Given the description of an element on the screen output the (x, y) to click on. 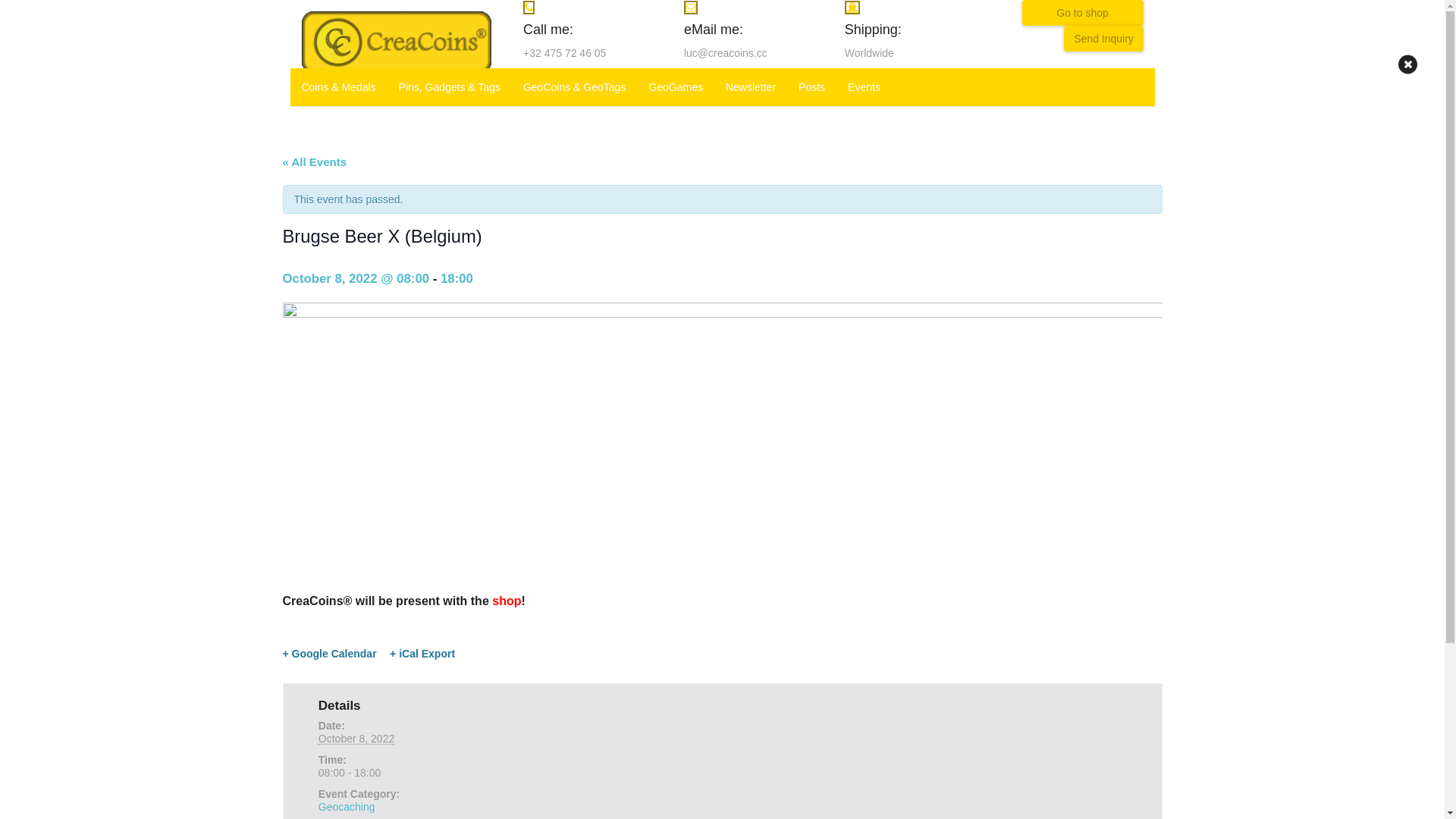
Send Inquiry Element type: text (1103, 38)
close Element type: text (1407, 63)
Go to shop Element type: text (1082, 12)
GeoCoins & GeoTags Element type: text (574, 87)
Posts Element type: text (811, 87)
Pins, Gadgets & Tags Element type: text (449, 87)
Coins & Medals Element type: text (337, 87)
Newsletter Element type: text (750, 87)
Geocaching Element type: text (346, 806)
GeoGames Element type: text (675, 87)
Events Element type: text (863, 87)
+ iCal Export Element type: text (422, 653)
+ Google Calendar Element type: text (329, 653)
